Given the description of an element on the screen output the (x, y) to click on. 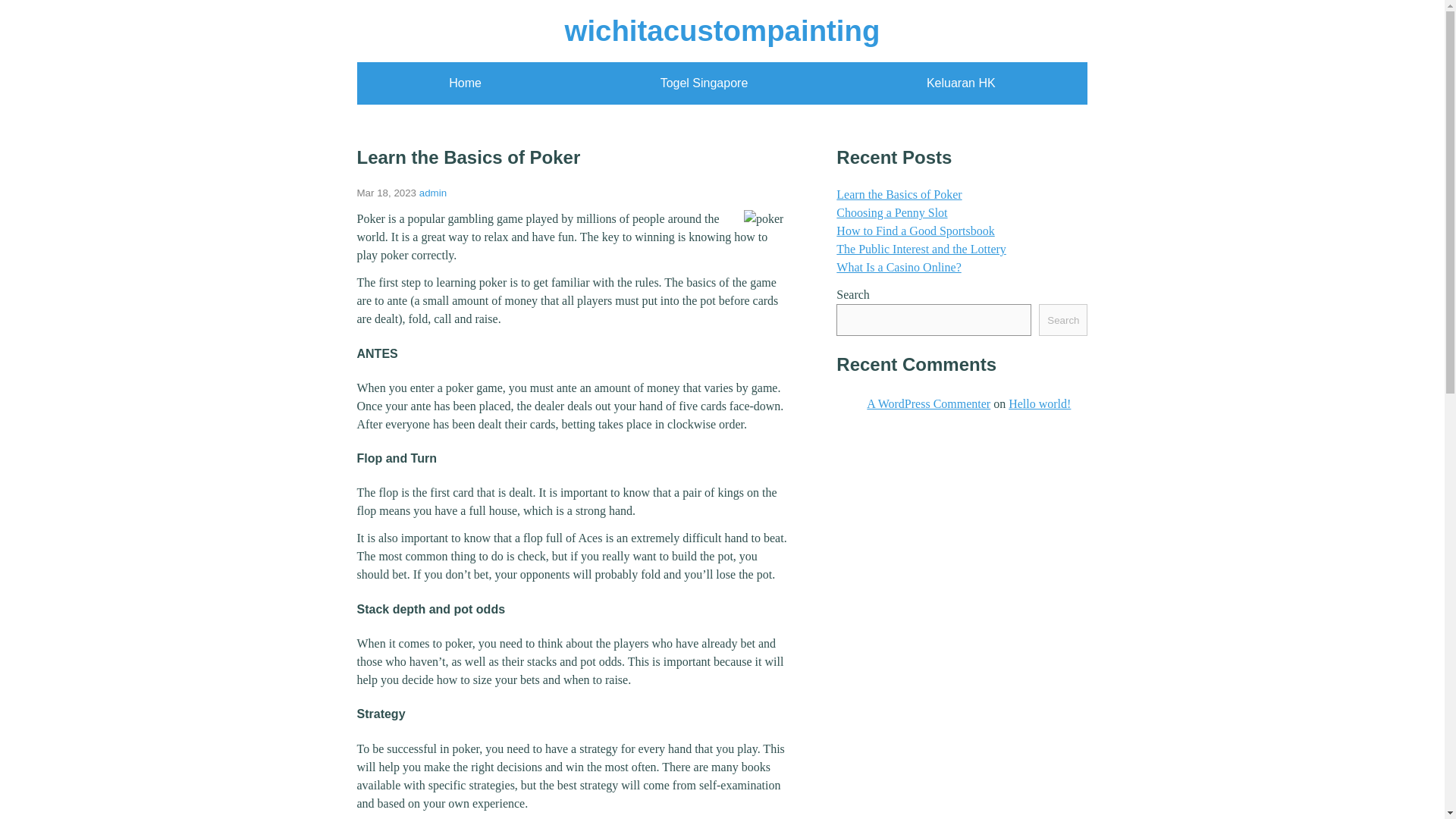
Choosing a Penny Slot (891, 212)
Togel Singapore (704, 82)
admin (432, 193)
What Is a Casino Online? (897, 267)
The Public Interest and the Lottery (920, 248)
Learn the Basics of Poker (897, 194)
Search (1063, 319)
Home (464, 82)
Hello world! (1039, 403)
How to Find a Good Sportsbook (914, 230)
